Given the description of an element on the screen output the (x, y) to click on. 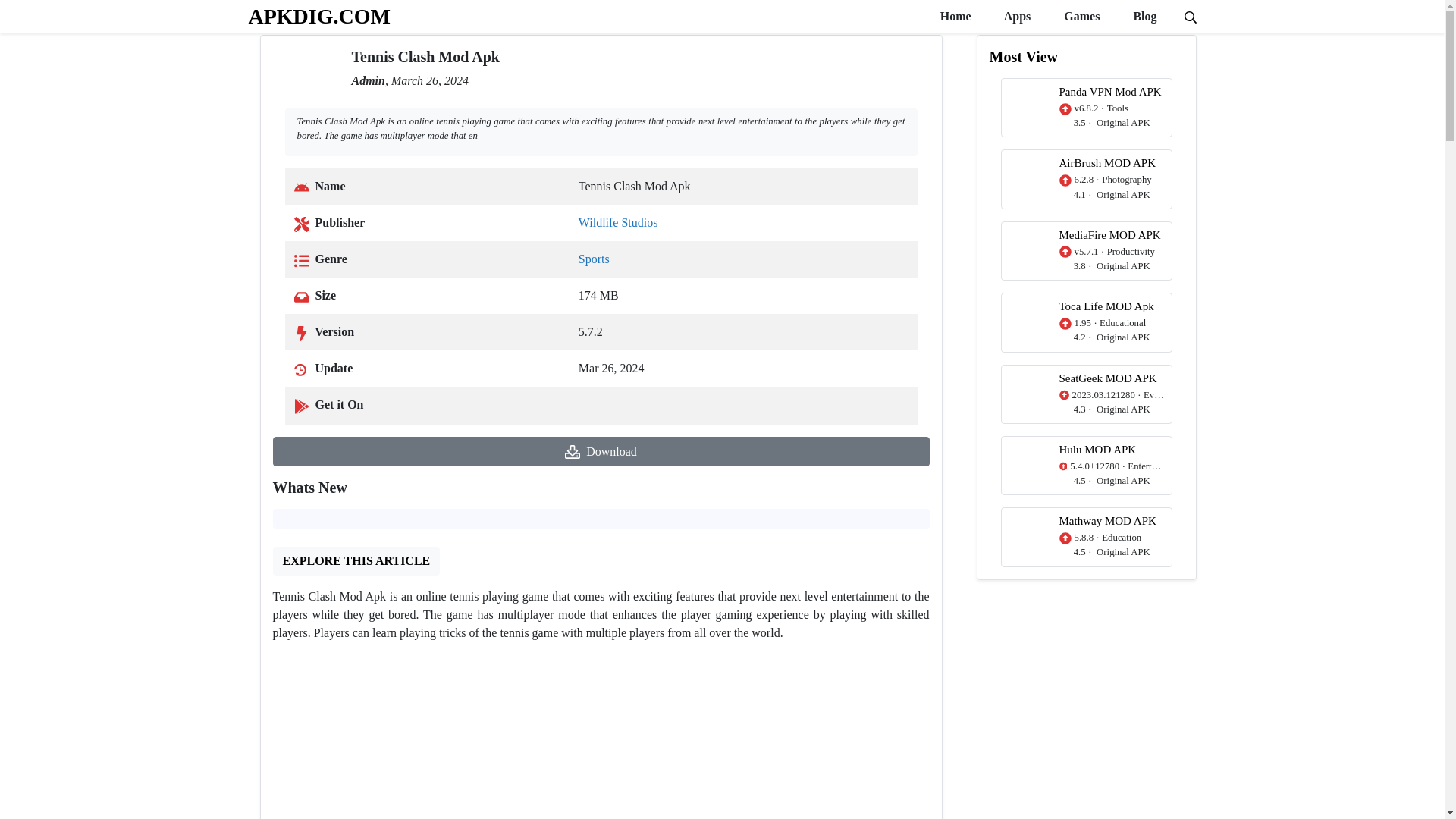
 Apps (1016, 16)
Developed by Wildlife Studios (618, 222)
 Home (954, 16)
 Blog (1143, 16)
APKDIG.COM (319, 15)
Sports (594, 258)
MediaFire MOD APK (1086, 250)
EXPLORE THIS ARTICLE (357, 561)
Download (601, 451)
Panda VPN Mod APK (1086, 107)
AirBrush MOD APK (1086, 178)
Wildlife Studios (618, 222)
 Games (1080, 16)
